Given the description of an element on the screen output the (x, y) to click on. 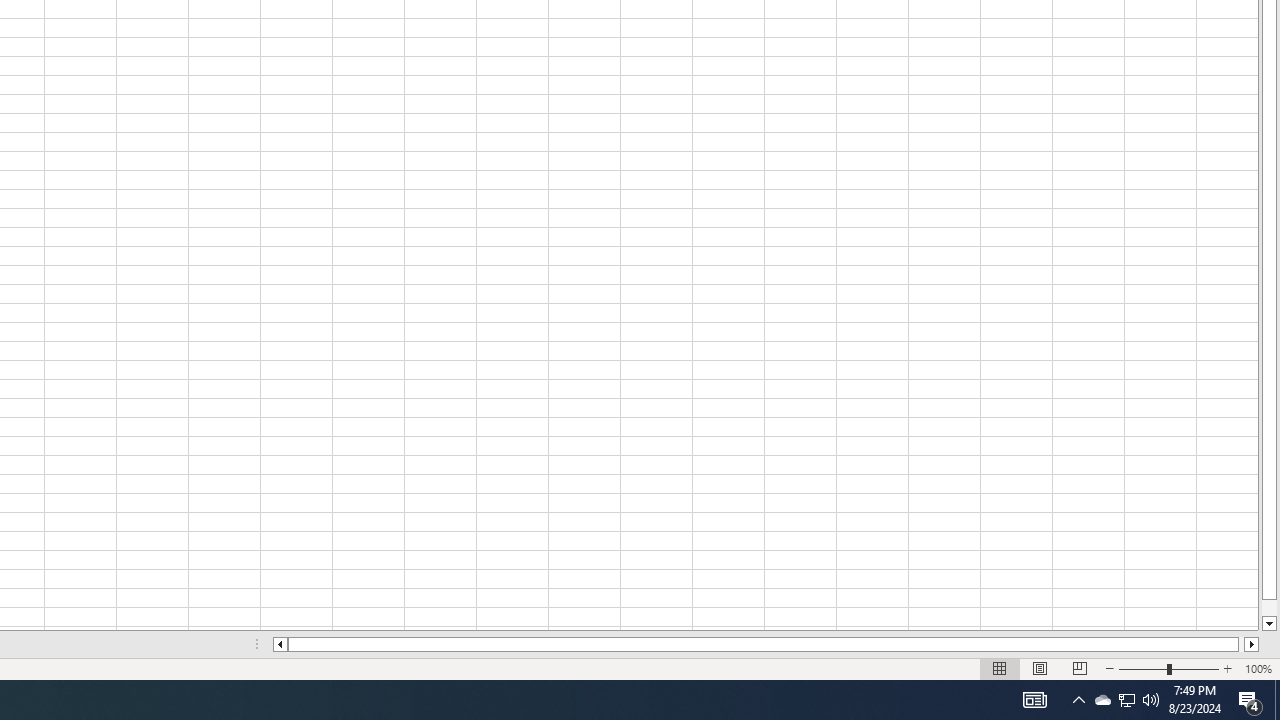
Normal (1000, 668)
Q2790: 100% (1151, 699)
Action Center, 4 new notifications (1250, 699)
Page Layout (1039, 668)
Page right (1241, 644)
Zoom Out (1142, 668)
Page Break Preview (1079, 668)
AutomationID: 4105 (1034, 699)
Class: NetUIScrollBar (765, 644)
Column right (1252, 644)
Notification Chevron (1078, 699)
Page down (1268, 607)
Column left (279, 644)
Line down (1268, 624)
